Given the description of an element on the screen output the (x, y) to click on. 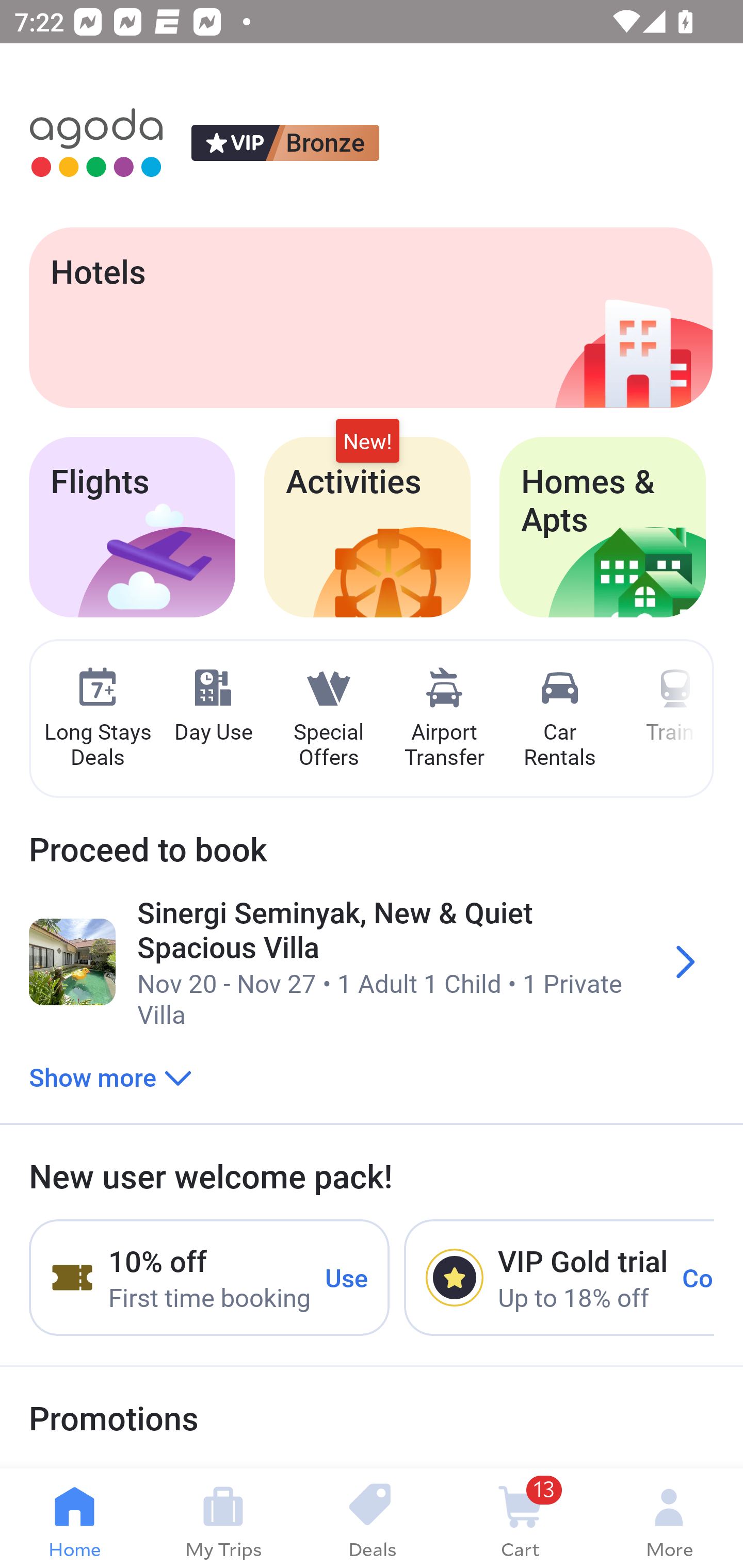
Hotels (370, 317)
New! (367, 441)
Flights (131, 527)
Activities (367, 527)
Homes & Apts (602, 527)
Day Use (213, 706)
Long Stays Deals (97, 718)
Special Offers (328, 718)
Airport Transfer (444, 718)
Car Rentals (559, 718)
Show more (110, 1076)
Use (346, 1277)
Home (74, 1518)
My Trips (222, 1518)
Deals (371, 1518)
13 Cart (519, 1518)
More (668, 1518)
